Given the description of an element on the screen output the (x, y) to click on. 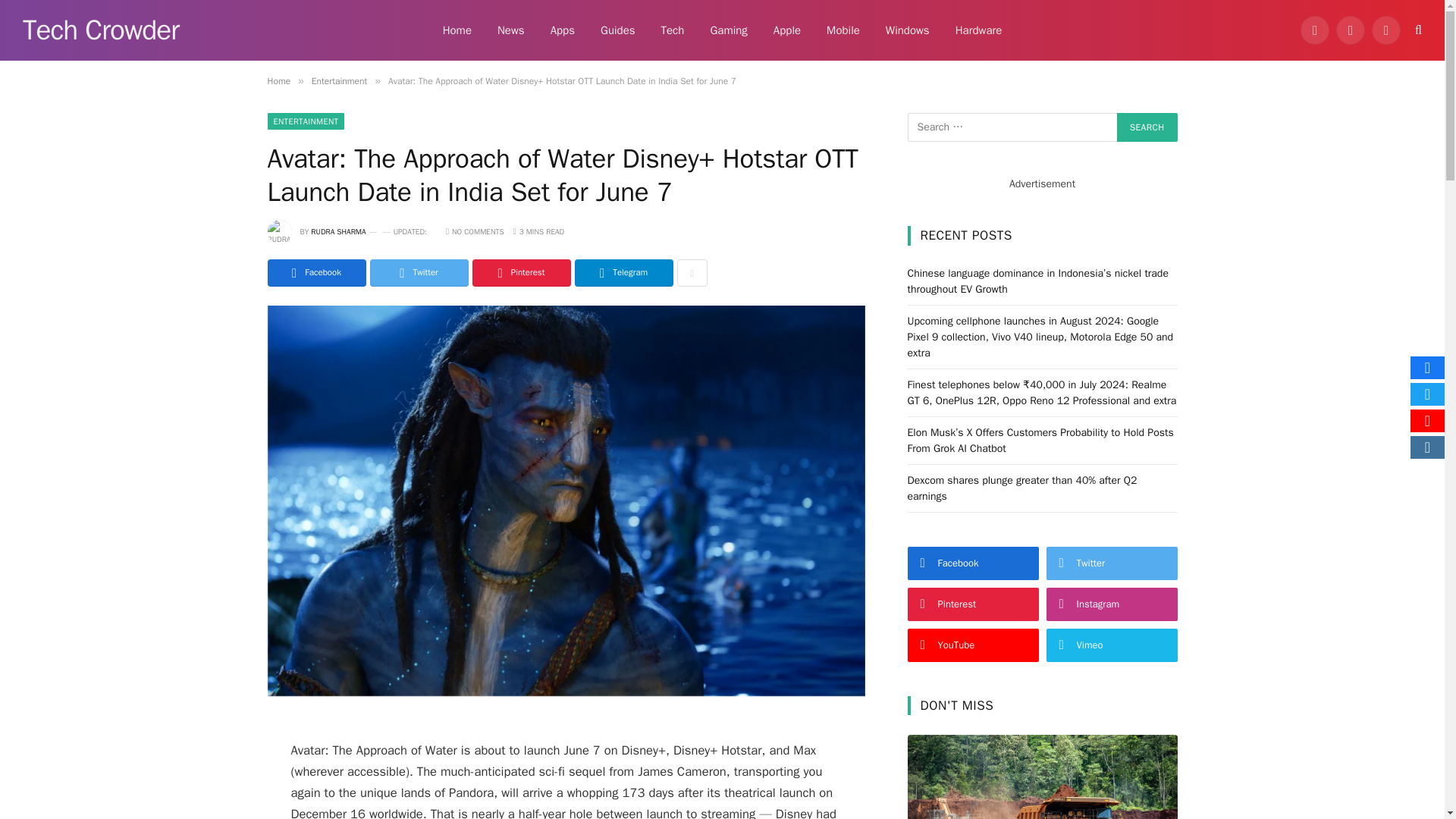
Instagram (1385, 30)
Posts by Rudra Sharma (338, 231)
Share on Facebook (315, 272)
Windows (907, 30)
Home (456, 30)
Twitter (1350, 30)
Share on Twitter (418, 272)
Guides (617, 30)
Tech Crowder (101, 30)
Share on Pinterest (520, 272)
Hardware (978, 30)
Gaming (728, 30)
Search (1146, 127)
Facebook (1314, 30)
Share on Telegram (623, 272)
